Given the description of an element on the screen output the (x, y) to click on. 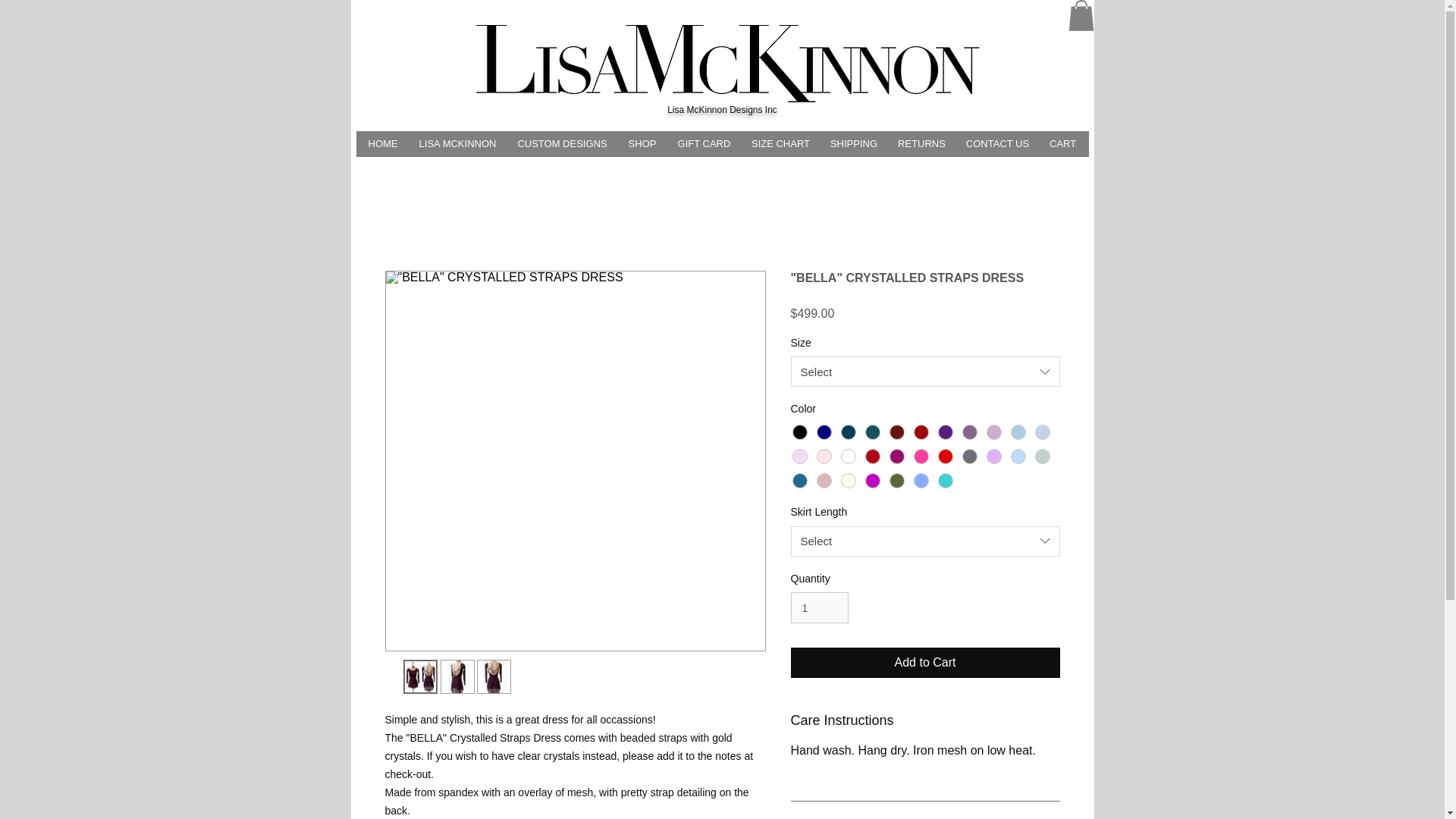
CUSTOM DESIGNS (561, 143)
HOME (383, 143)
LisaMcKinnonLabel 06.16.17.jpg (724, 63)
Select (924, 371)
SIZE CHART (781, 143)
LISA MCKINNON (456, 143)
Add to Cart (924, 662)
CART (1062, 143)
RETURNS (920, 143)
SHOP (641, 143)
